Given the description of an element on the screen output the (x, y) to click on. 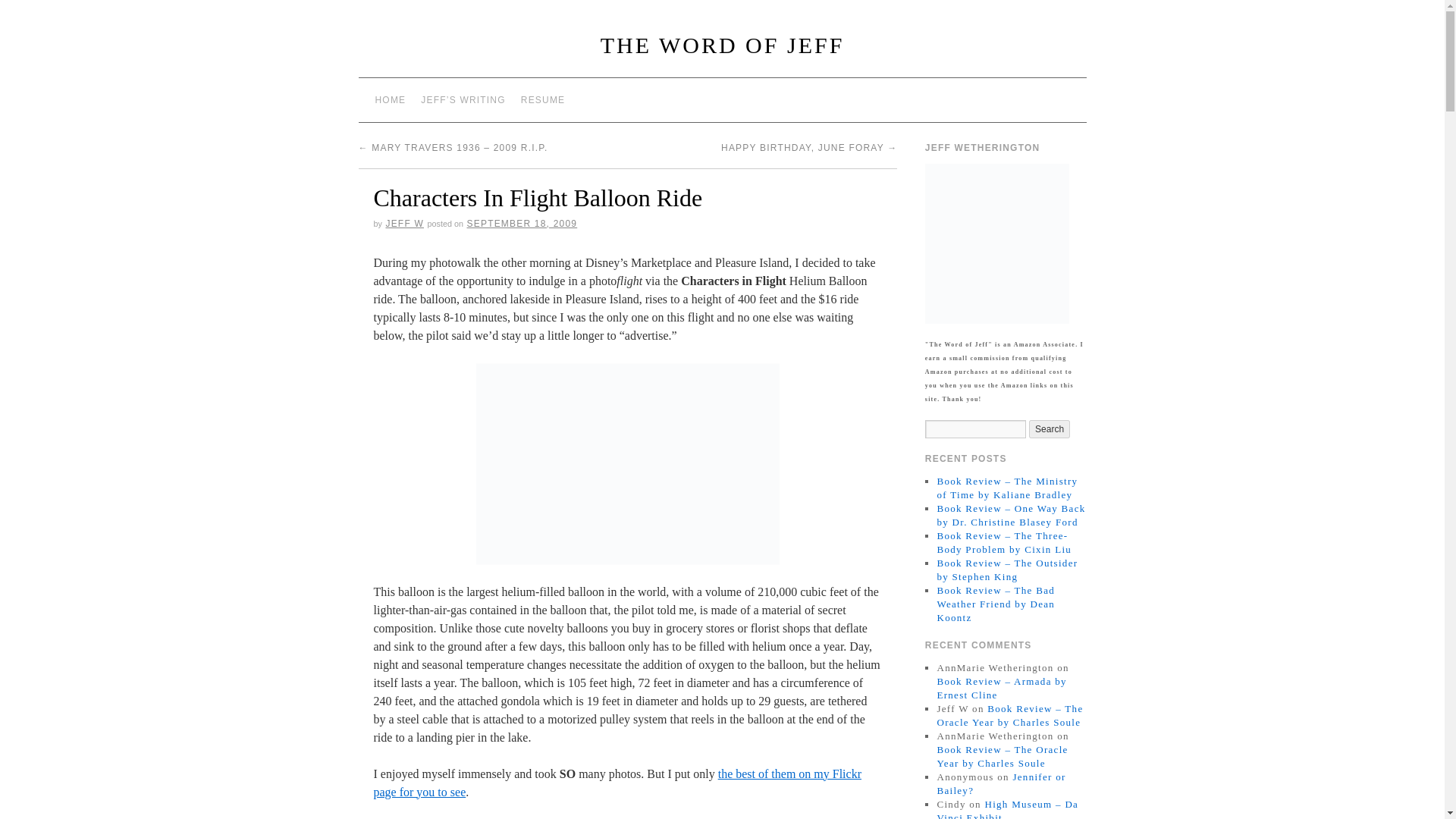
JEFF W (404, 223)
View all posts by Jeff W (404, 223)
RESUME (543, 99)
HOME (389, 99)
THE WORD OF JEFF (721, 44)
4:03 am (522, 223)
The Word Of Jeff (721, 44)
Search (1049, 429)
SEPTEMBER 18, 2009 (522, 223)
Jennifer or Bailey? (1000, 783)
